Given the description of an element on the screen output the (x, y) to click on. 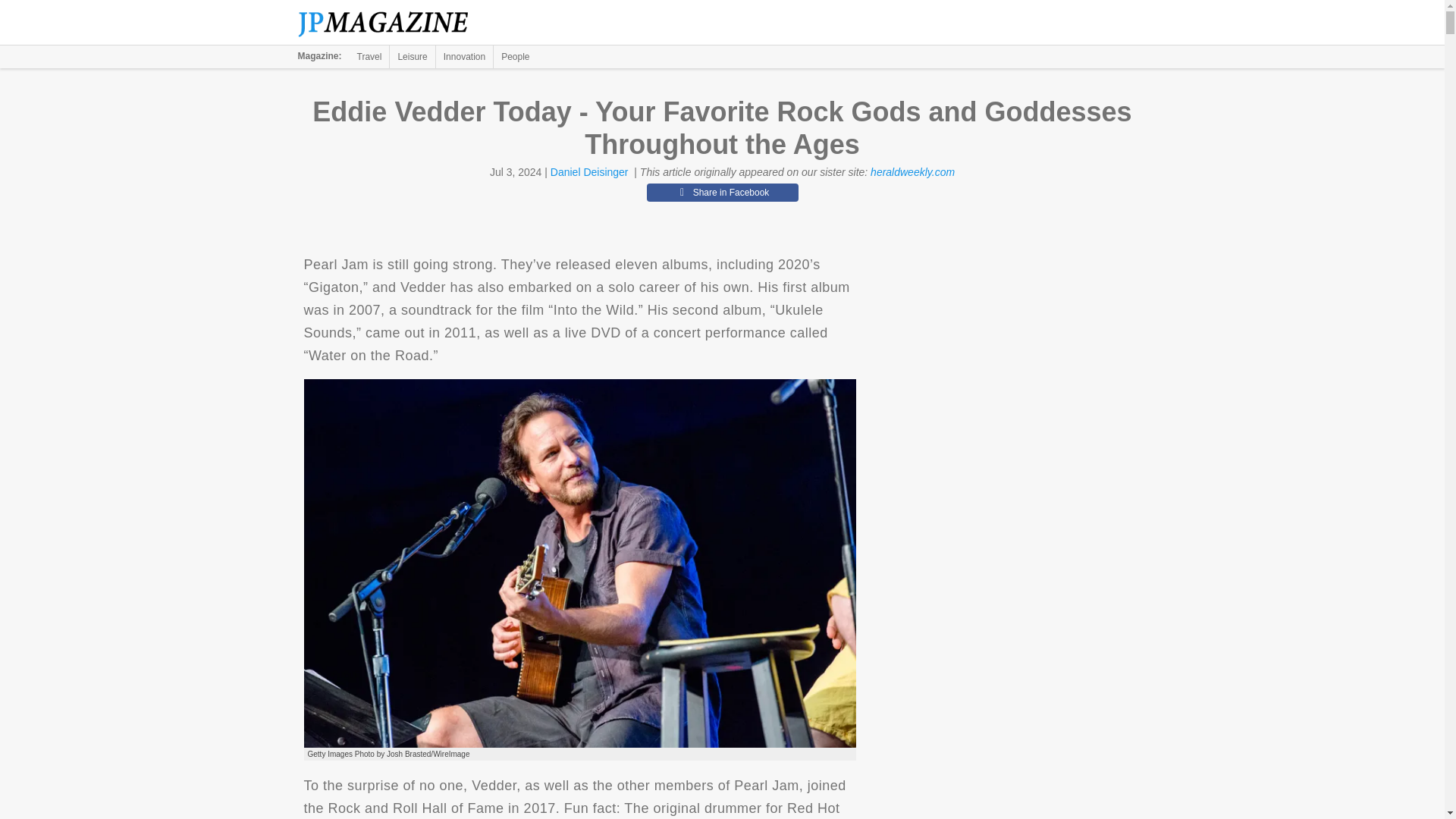
Daniel Deisinger (589, 172)
People (515, 56)
Travel (369, 56)
Share in Facebook (721, 192)
The Jerusalem Post Magazine (391, 22)
heraldweekly.com (912, 172)
Innovation (464, 56)
Leisure (411, 56)
